Given the description of an element on the screen output the (x, y) to click on. 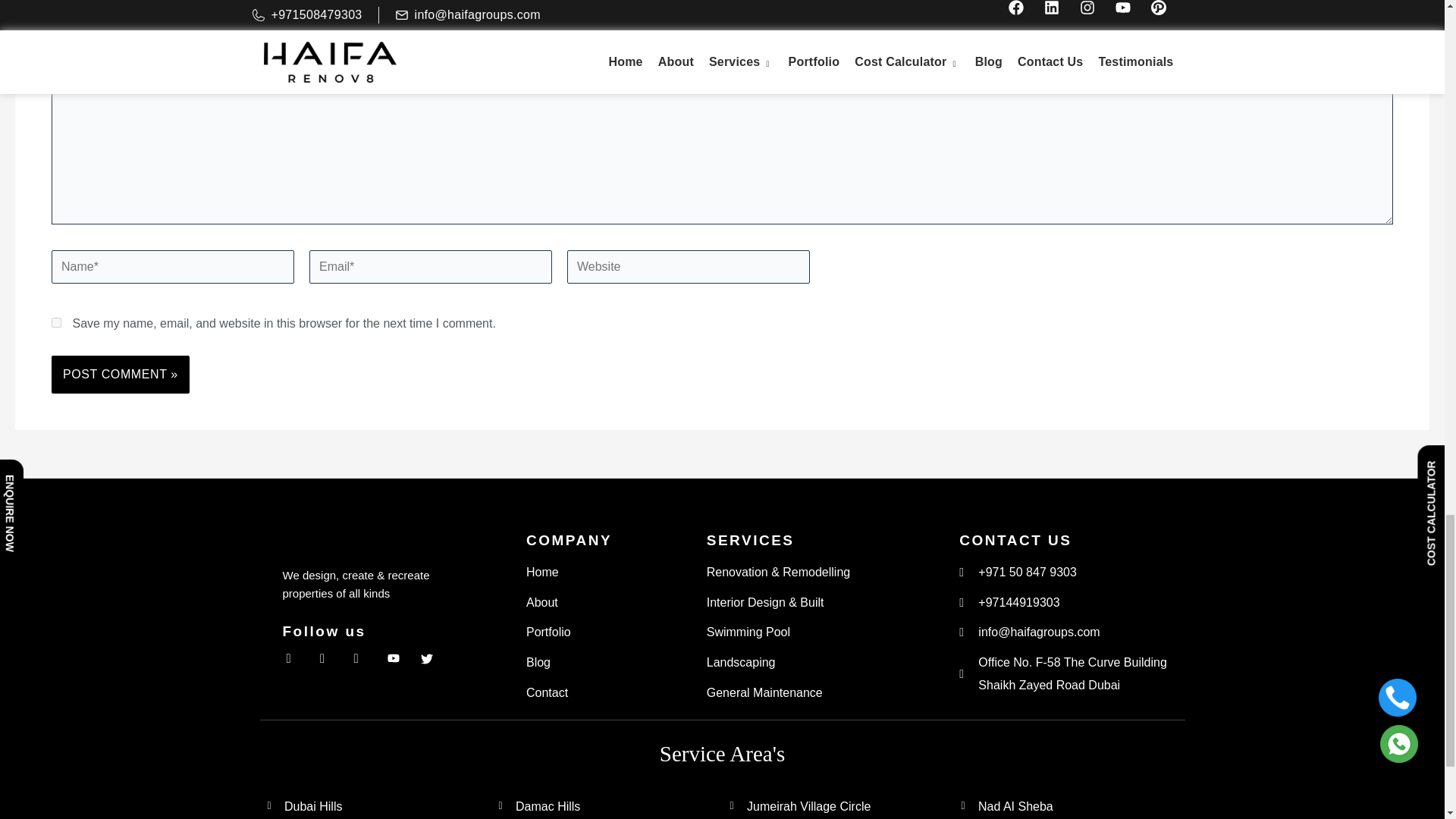
yes (55, 322)
